Given the description of an element on the screen output the (x, y) to click on. 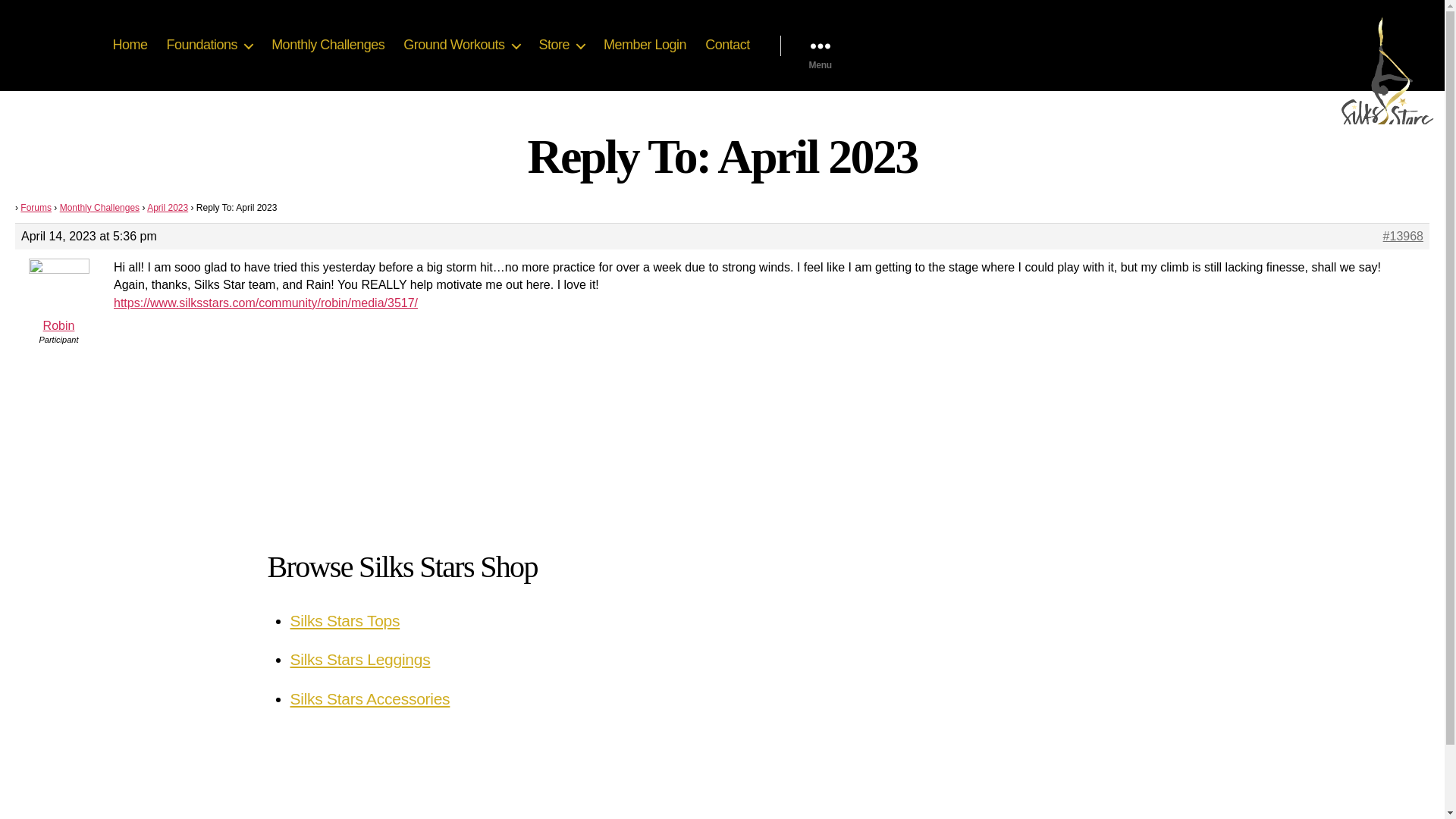
Foundations (210, 45)
Ground Workouts (461, 45)
Monthly Challenges (327, 45)
View Robin's profile (57, 295)
Home (129, 45)
